Given the description of an element on the screen output the (x, y) to click on. 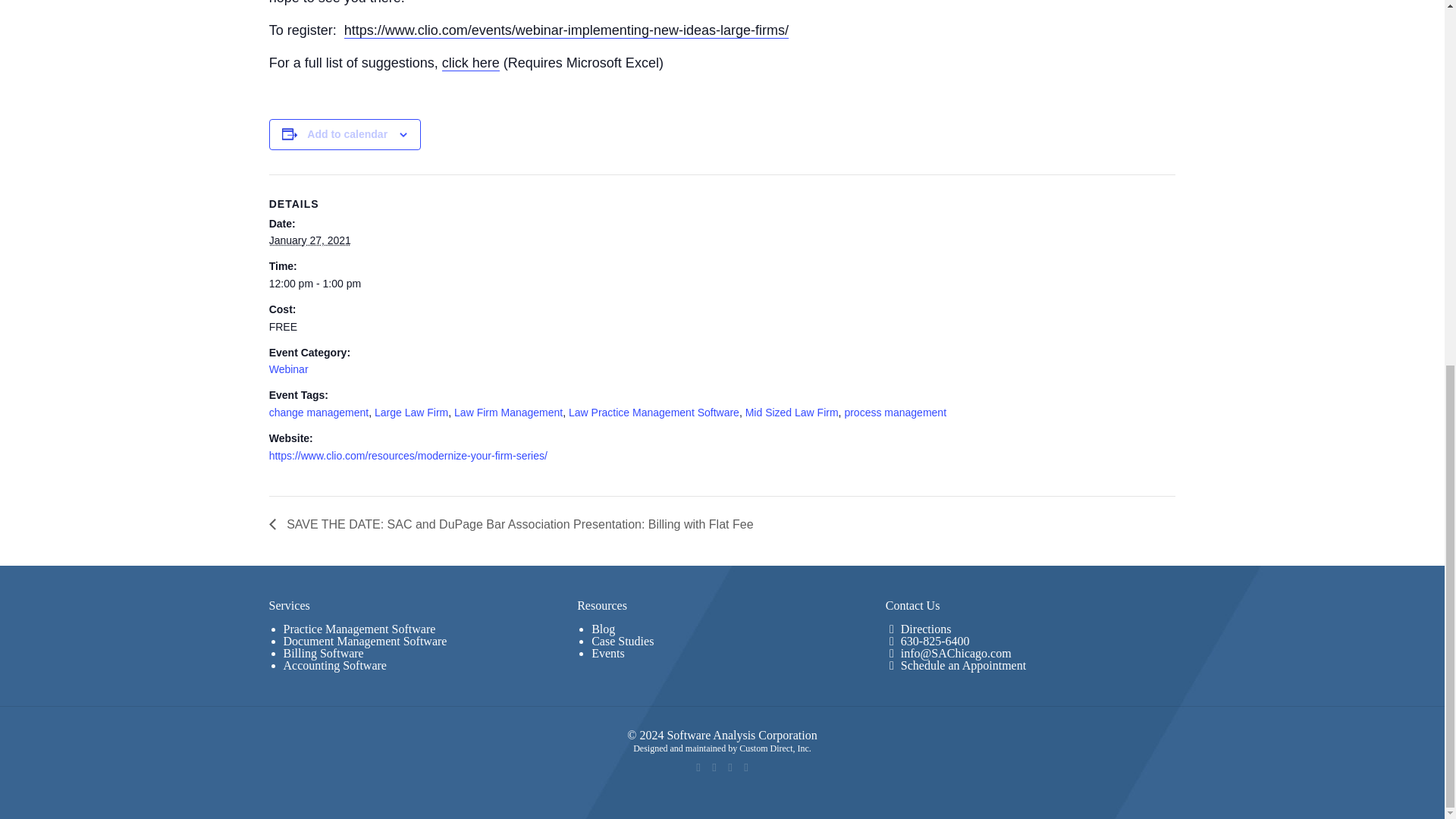
2021-01-27 (309, 240)
LinkedIn (745, 767)
click here (470, 63)
Facebook (698, 767)
change management (319, 412)
2021-01-27 (713, 283)
Large Law Firm (411, 412)
YouTube (730, 767)
Webinar (288, 369)
Law Firm Management (508, 412)
Add to calendar (347, 133)
